Given the description of an element on the screen output the (x, y) to click on. 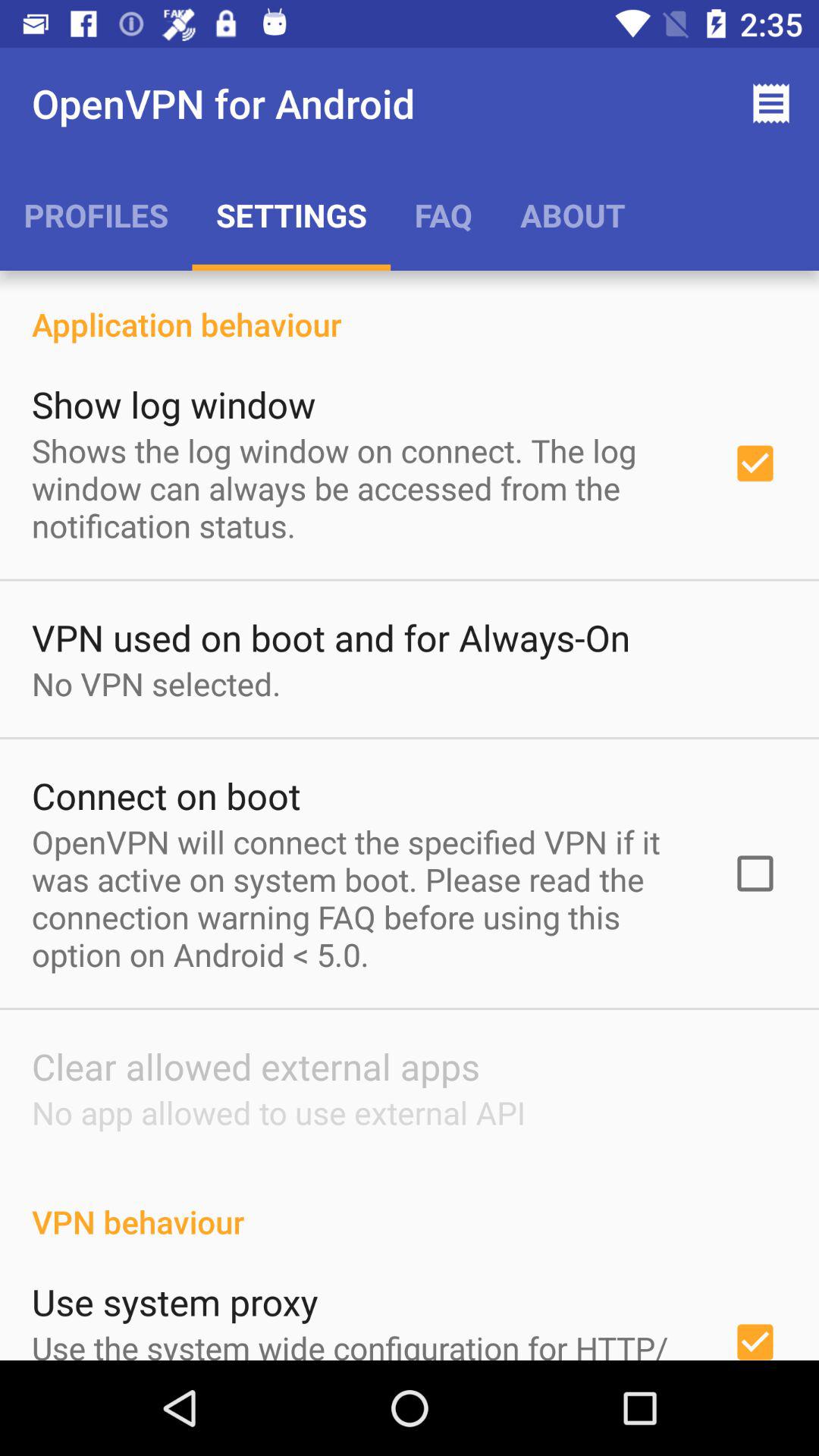
press the profiles item (96, 214)
